Given the description of an element on the screen output the (x, y) to click on. 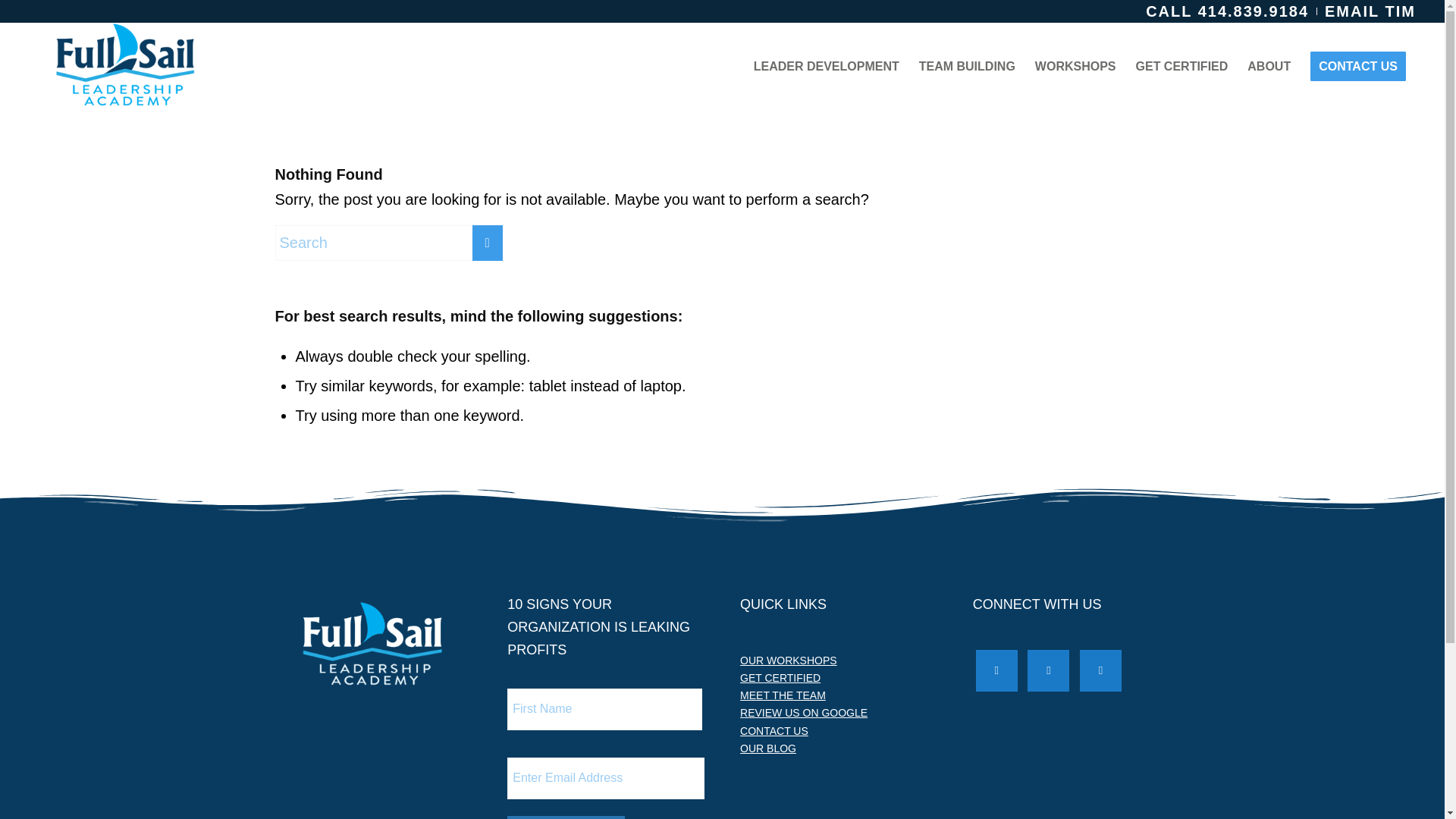
GET CERTIFIED (1182, 66)
Visit Our Blog (767, 748)
Review us on Google (803, 712)
CONTACT US (773, 730)
facebook (996, 669)
Facebook (996, 669)
youtube (1100, 669)
LEADER DEVELOPMENT (826, 66)
OUR BLOG (767, 748)
REVIEW US ON GOOGLE (803, 712)
